Given the description of an element on the screen output the (x, y) to click on. 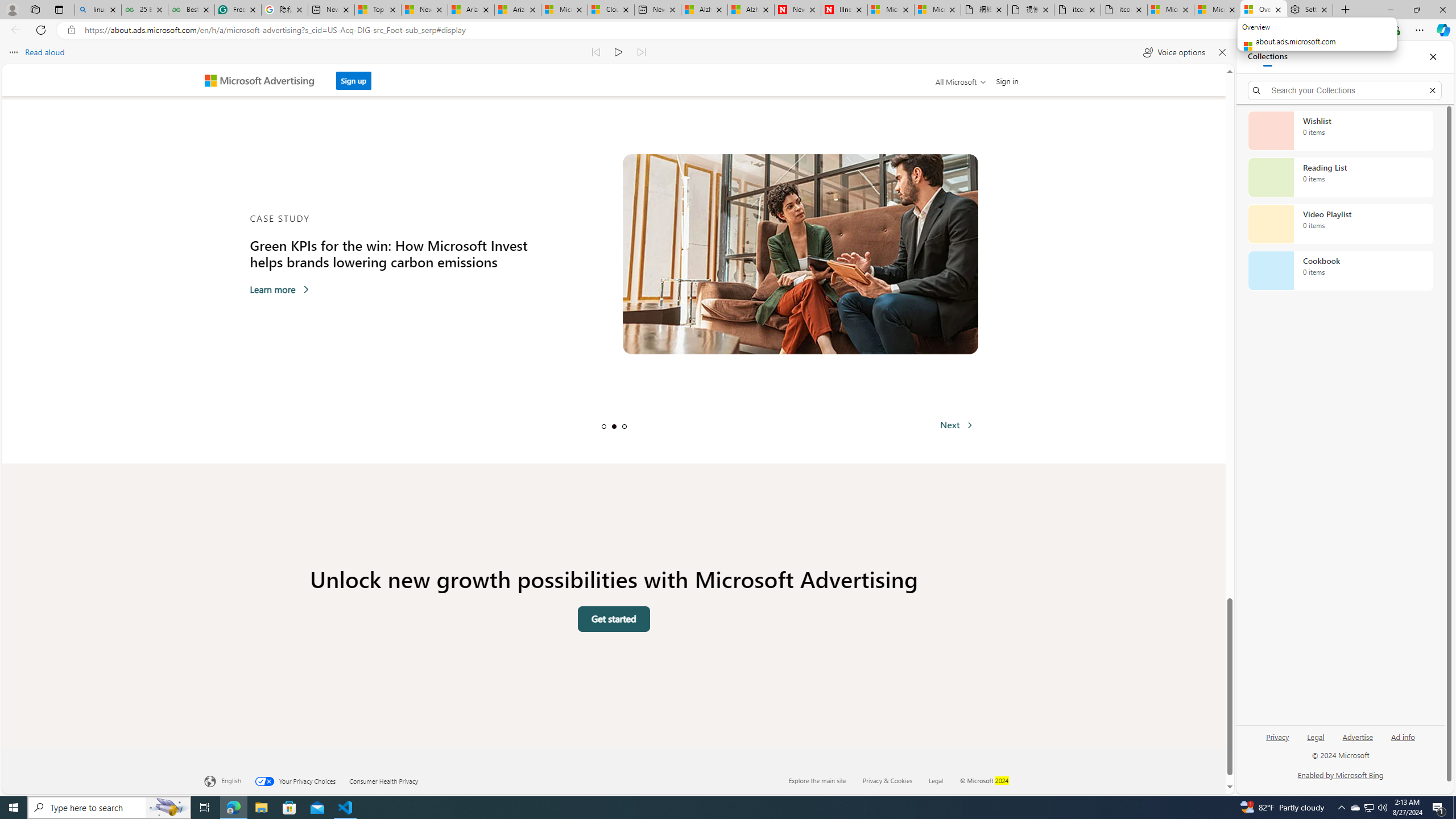
Microsoft Services Agreement (563, 9)
Read next paragraph (641, 52)
Continue to read aloud (Ctrl+Shift+U) (618, 52)
Next (955, 424)
Exit search (1432, 90)
